Given the description of an element on the screen output the (x, y) to click on. 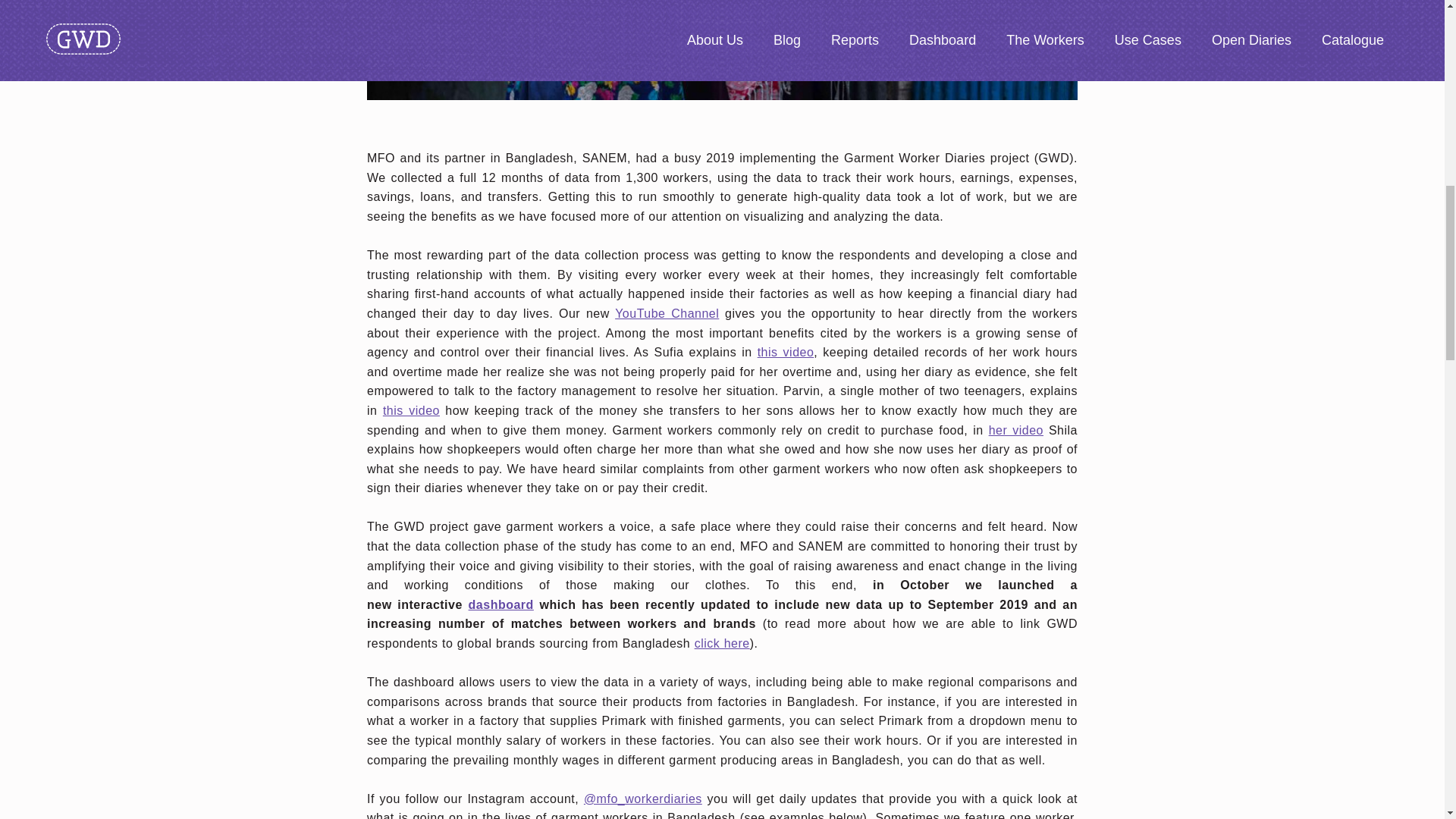
her video (1015, 429)
dashboard (501, 604)
this video (410, 410)
click here (721, 643)
YouTube Channel (666, 313)
this video (785, 351)
